Given the description of an element on the screen output the (x, y) to click on. 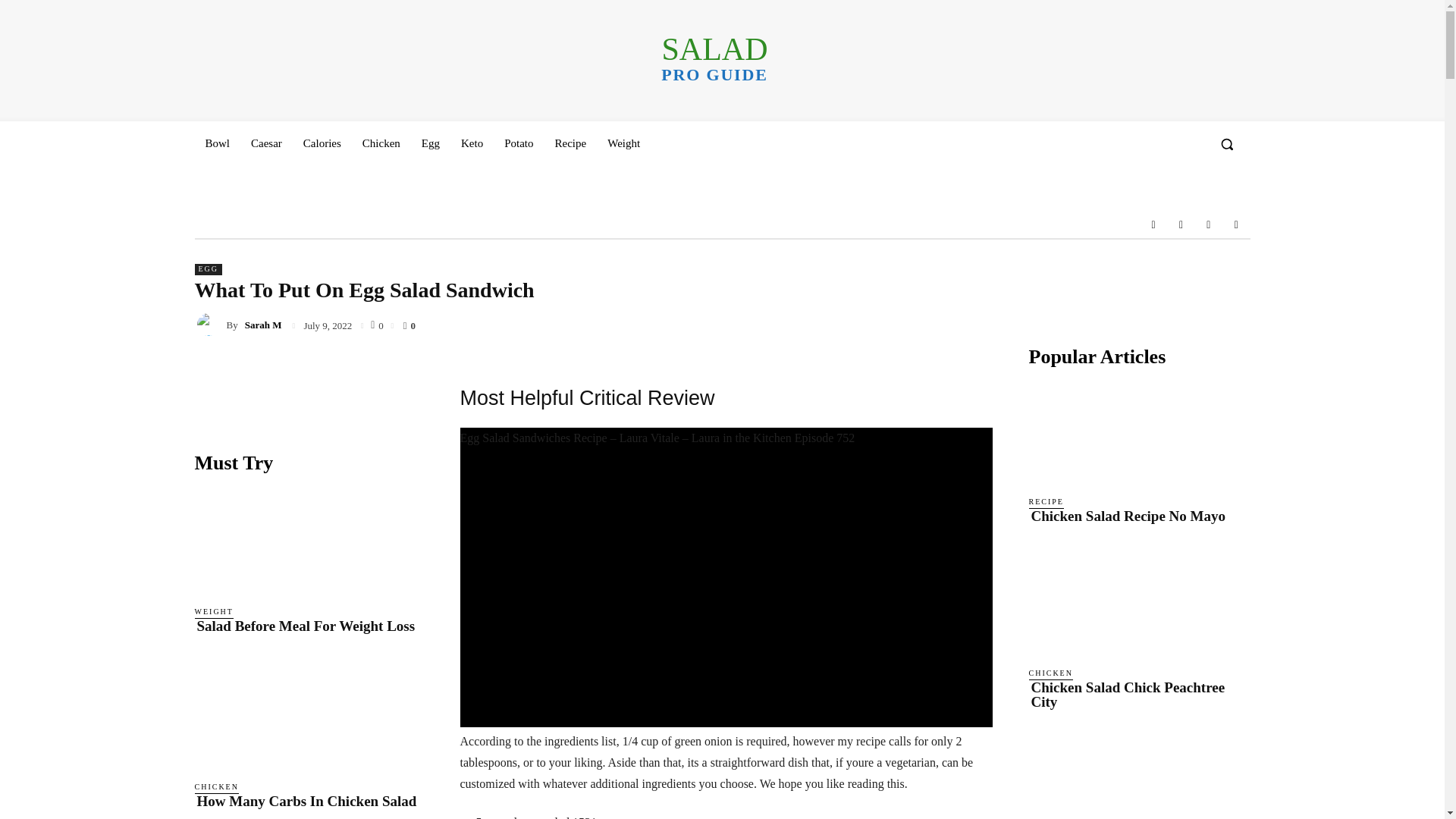
Keto (471, 143)
Bowl (216, 143)
Weight (623, 143)
Facebook (1153, 224)
Egg (713, 58)
Recipe (429, 143)
Potato (570, 143)
Instagram (518, 143)
Calories (1180, 224)
VKontakte (322, 143)
Chicken (1209, 224)
Youtube (381, 143)
Caesar (1236, 224)
